Given the description of an element on the screen output the (x, y) to click on. 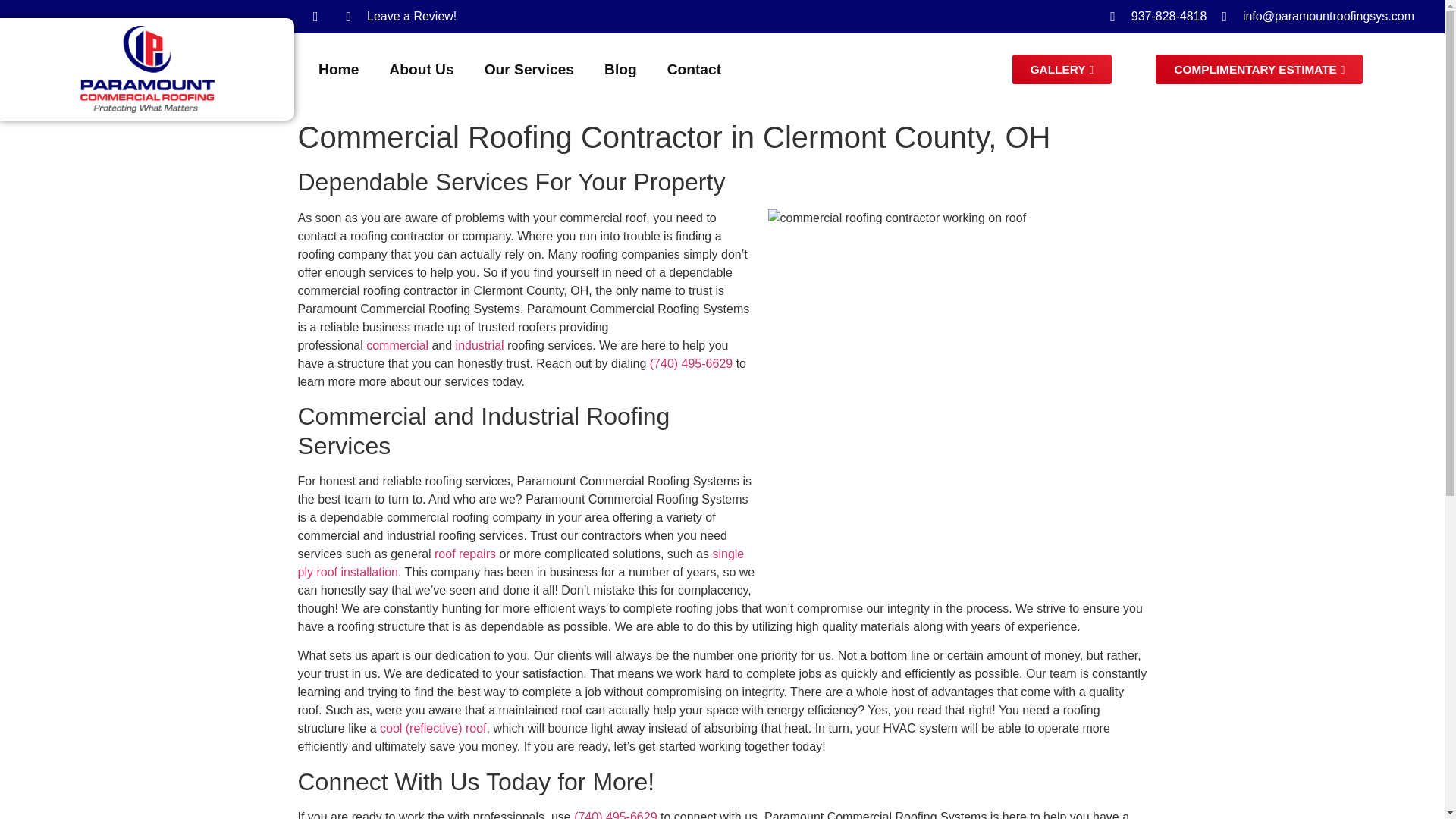
Leave a Review! (401, 16)
Blog (620, 70)
Home (338, 70)
937-828-4818 (1158, 16)
Our Services (528, 70)
GALLERY (1061, 69)
About Us (421, 70)
Contact (694, 70)
COMPLIMENTARY ESTIMATE (1259, 69)
